Given the description of an element on the screen output the (x, y) to click on. 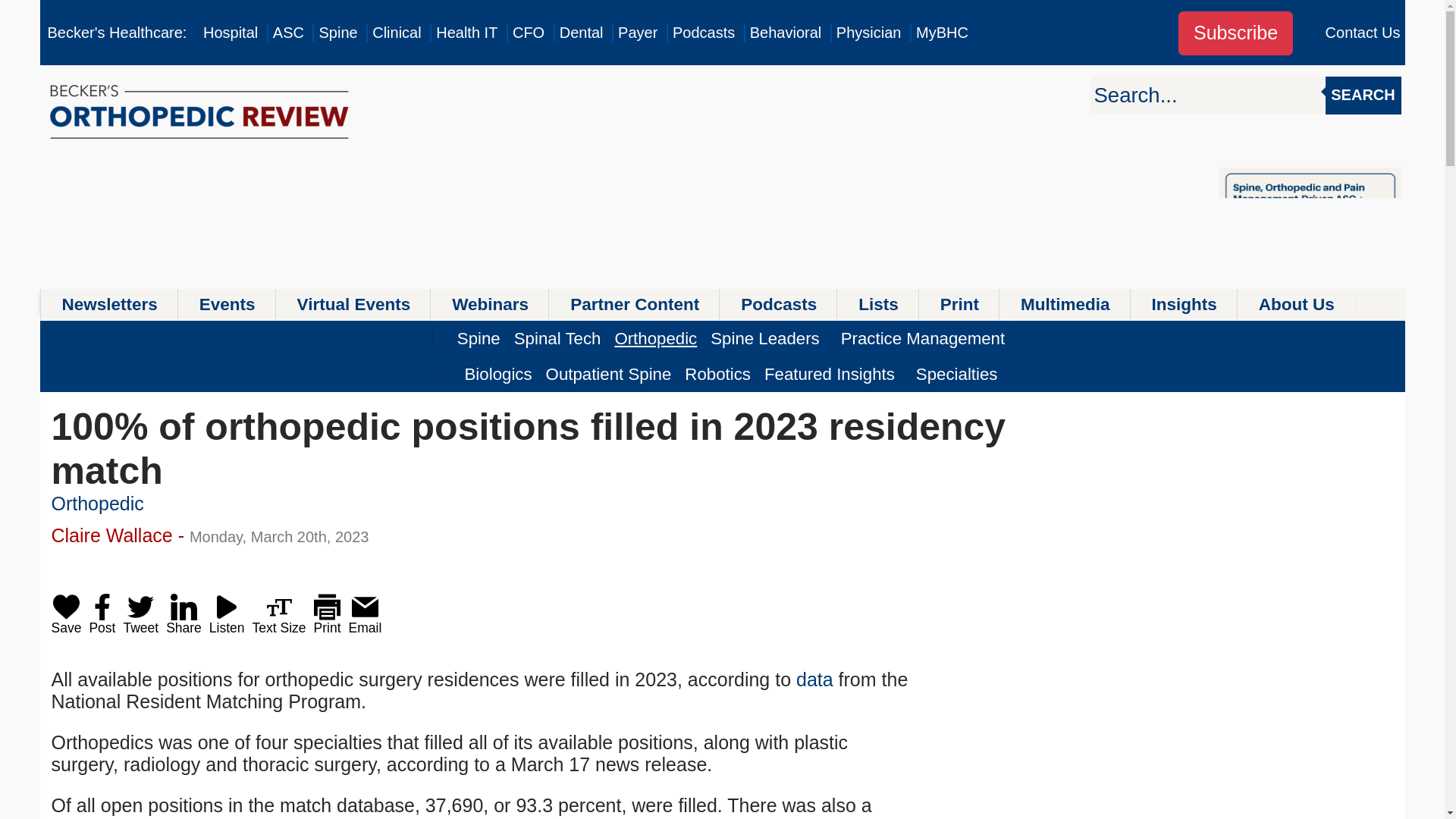
Physician (868, 32)
Physician (868, 32)
Becker's Podcasts (703, 32)
Clinical (396, 32)
Subscribe (1234, 33)
Health IT (466, 32)
Becker's Clinical (396, 32)
Hospital (230, 32)
CFO (528, 32)
Payer (637, 32)
ASC (288, 32)
Becker's CFO (528, 32)
MyBHC (941, 32)
Dental (581, 32)
Podcasts (703, 32)
